Given the description of an element on the screen output the (x, y) to click on. 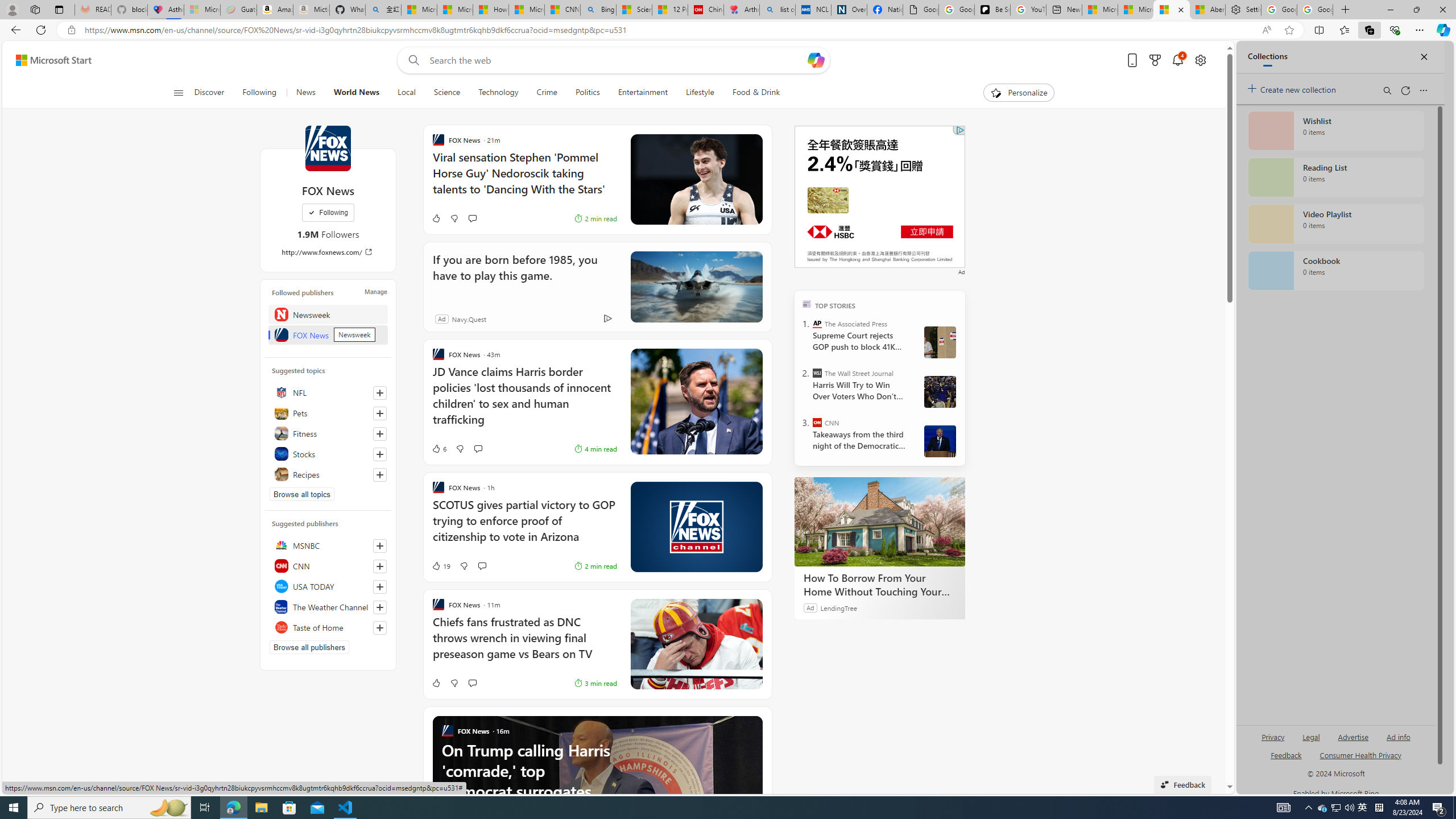
Stocks (327, 453)
Fitness (327, 433)
NFL (327, 392)
AutomationID: canvas (879, 196)
http://www.foxnews.com/ (327, 251)
